Given the description of an element on the screen output the (x, y) to click on. 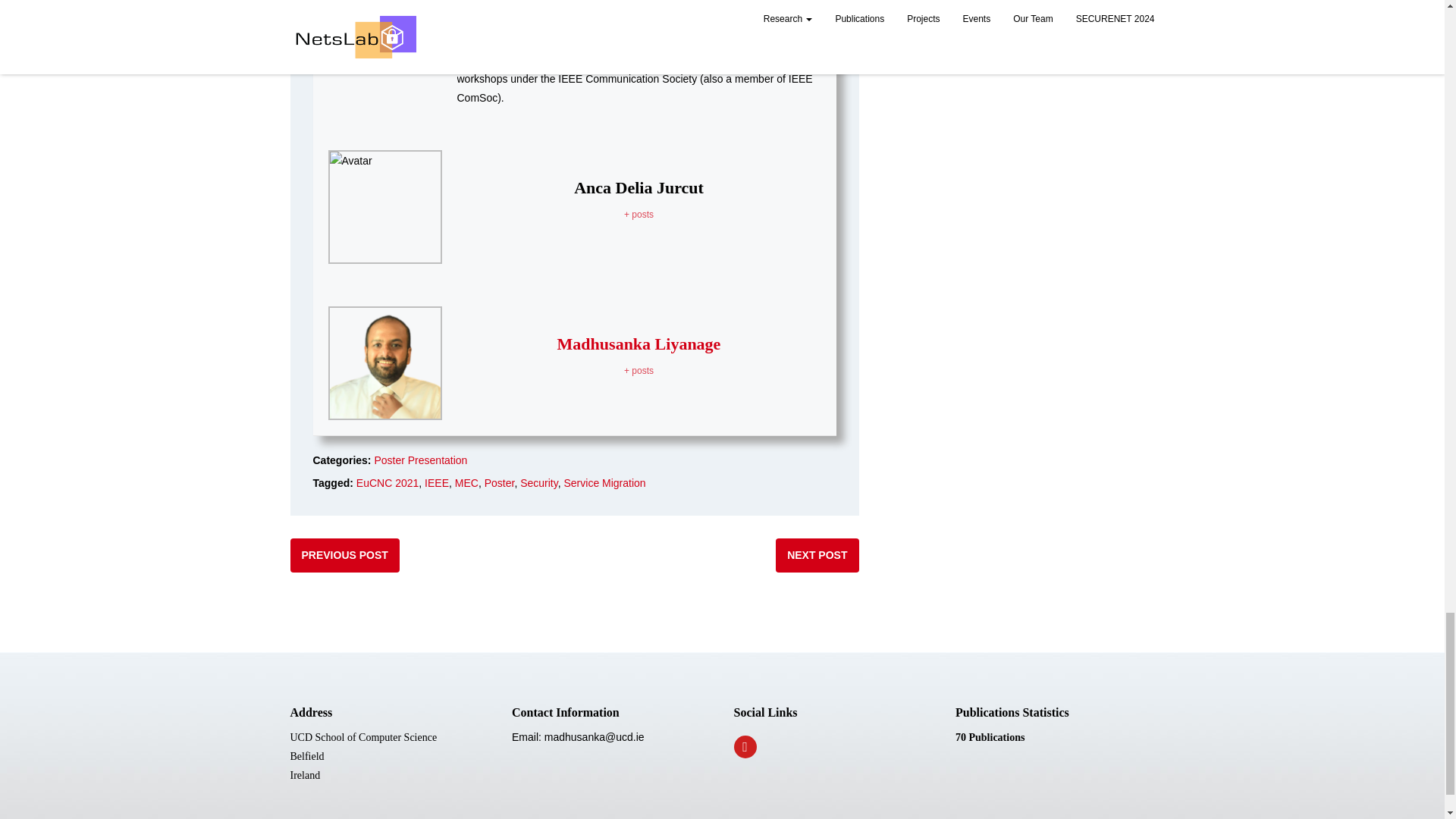
Youtube (745, 746)
Madhusanka Liyanage (638, 343)
